Given the description of an element on the screen output the (x, y) to click on. 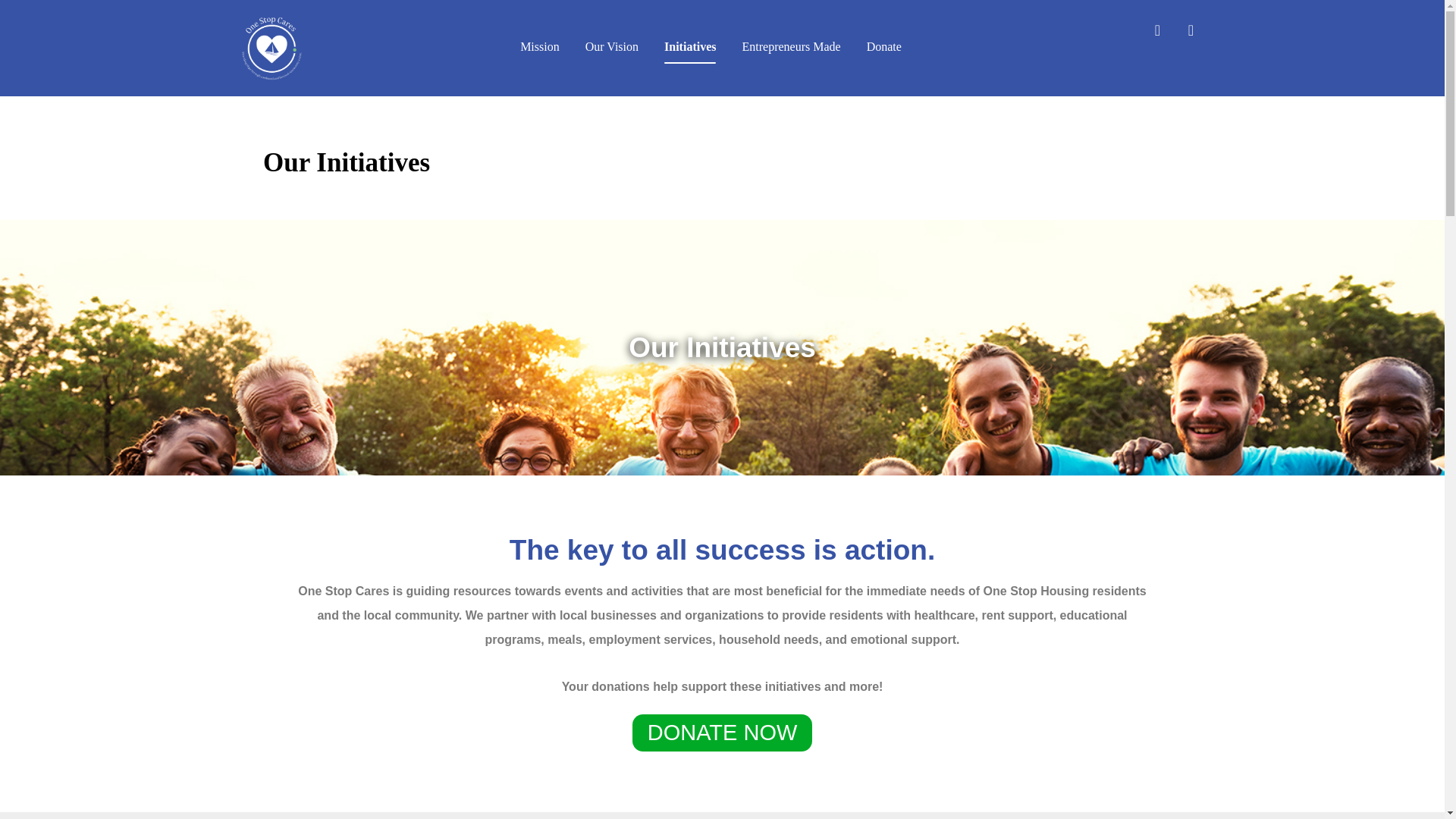
DONATE NOW (718, 732)
Donate (883, 46)
8440 North Tamiami Trail, Sarasota, FL 34243 (1056, 686)
Our Initiatives (1097, 166)
Mission (608, 592)
Our Vision (612, 46)
Privacy Policy (625, 713)
Mission (539, 46)
Entrepreneurs Made (643, 665)
Initiatives (613, 640)
Initiatives (689, 46)
Entrepreneurs Made (790, 46)
Donate (607, 689)
Privacy Policy (625, 713)
Our Vision (616, 616)
